Given the description of an element on the screen output the (x, y) to click on. 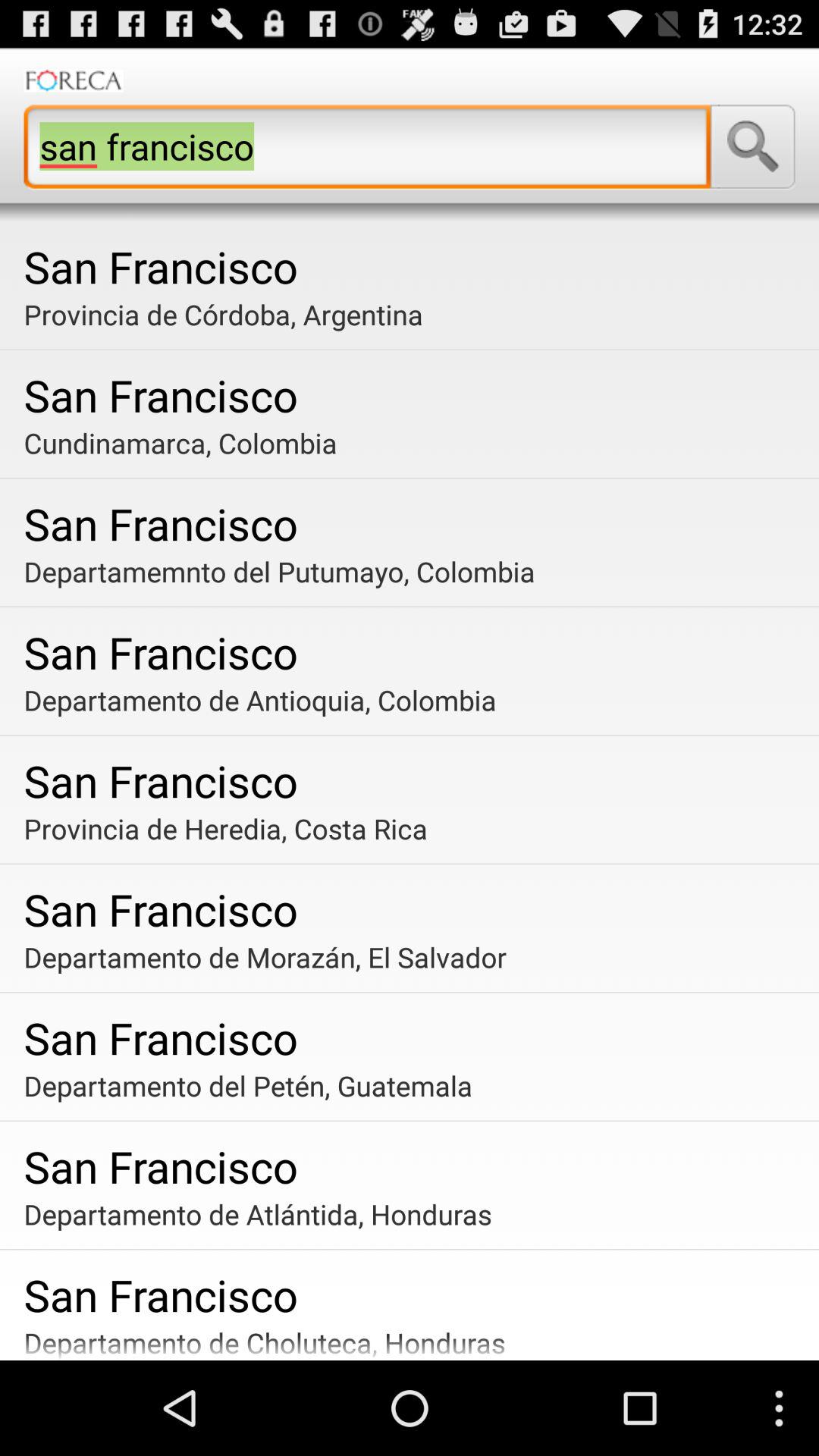
tap icon above the san francisco icon (415, 571)
